Given the description of an element on the screen output the (x, y) to click on. 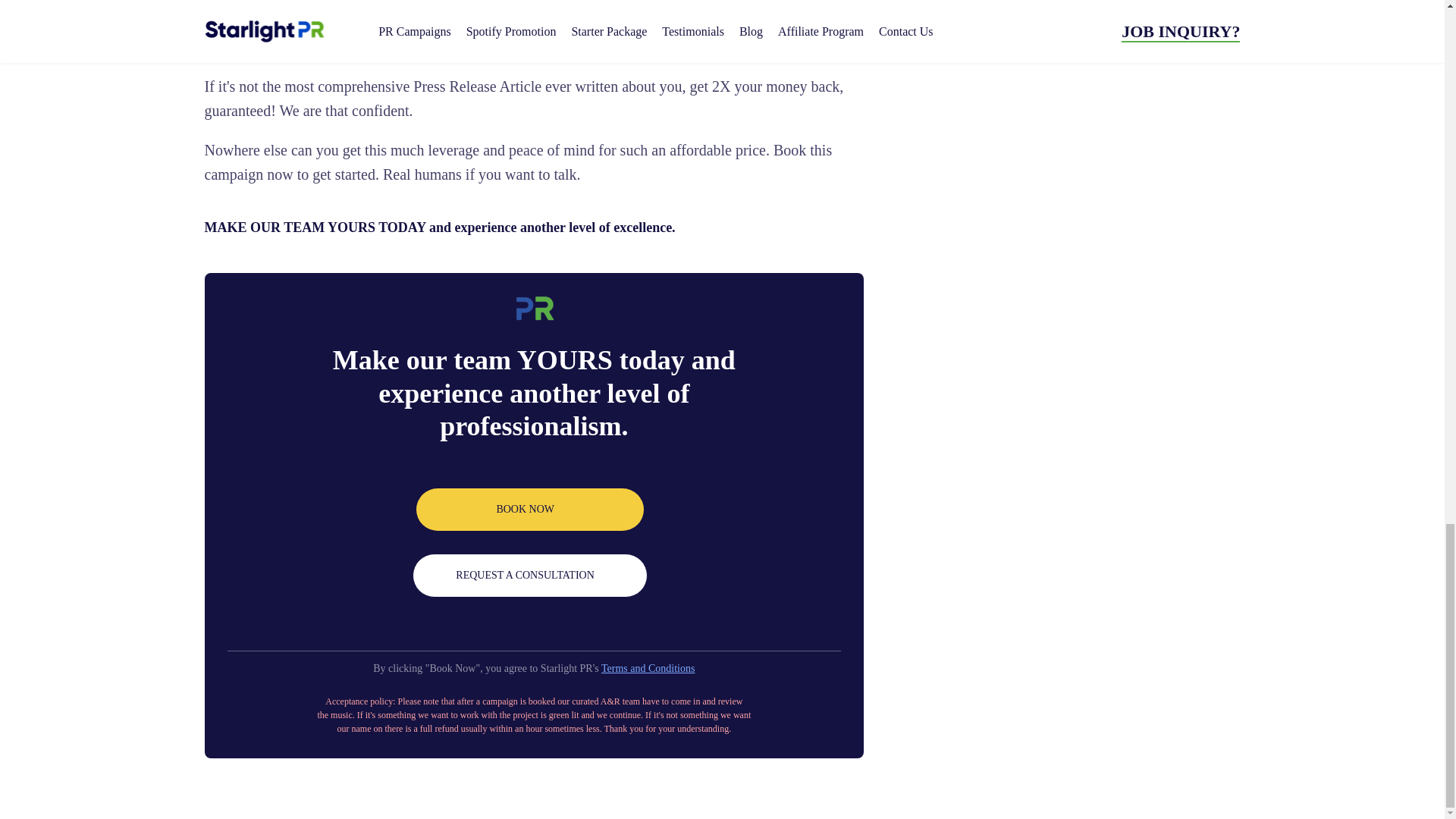
Terms and Conditions (647, 668)
BOOK NOW (529, 509)
REQUEST A CONSULTATION (529, 575)
